Given the description of an element on the screen output the (x, y) to click on. 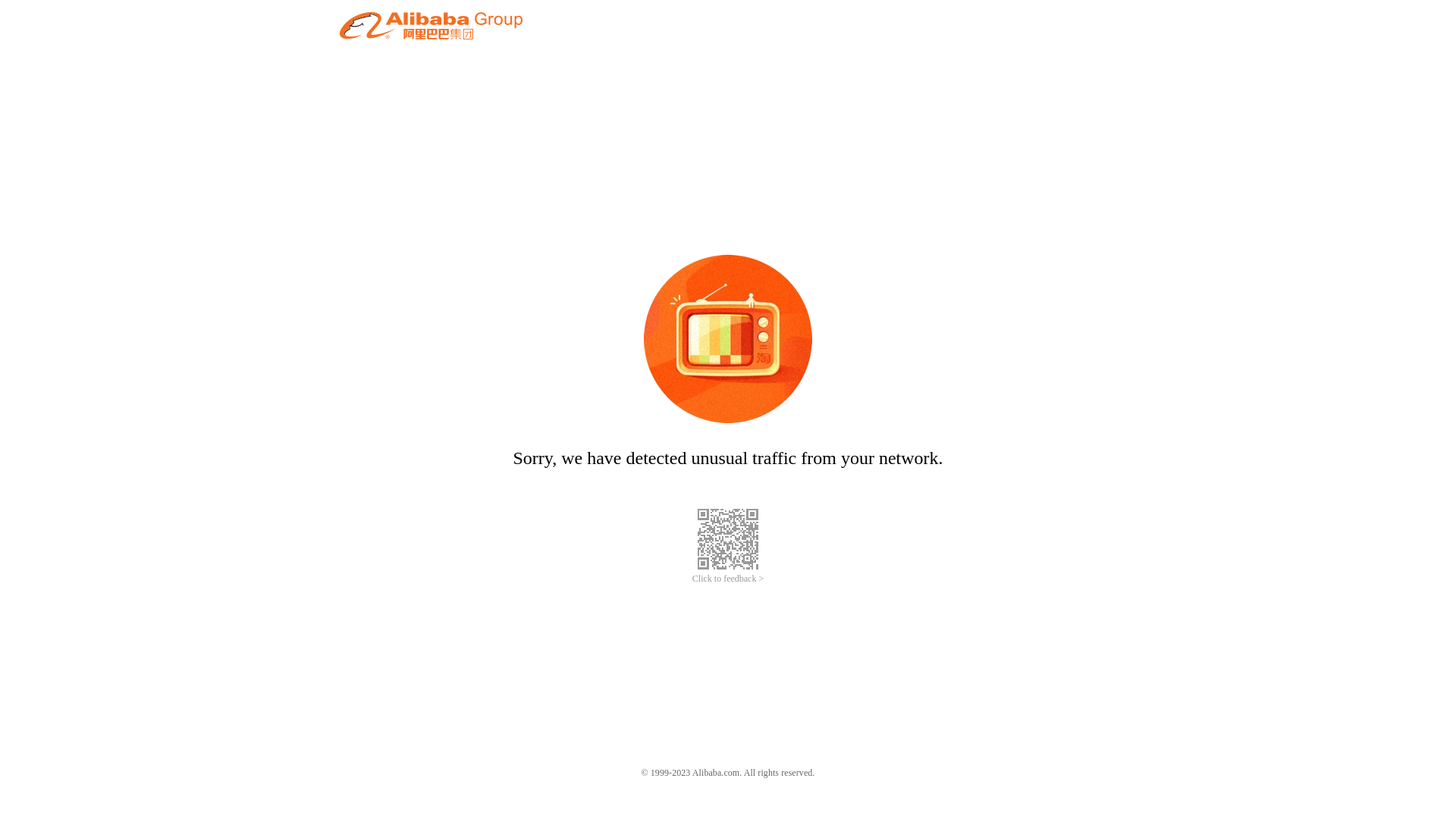
Click to feedback > Element type: text (727, 578)
